Given the description of an element on the screen output the (x, y) to click on. 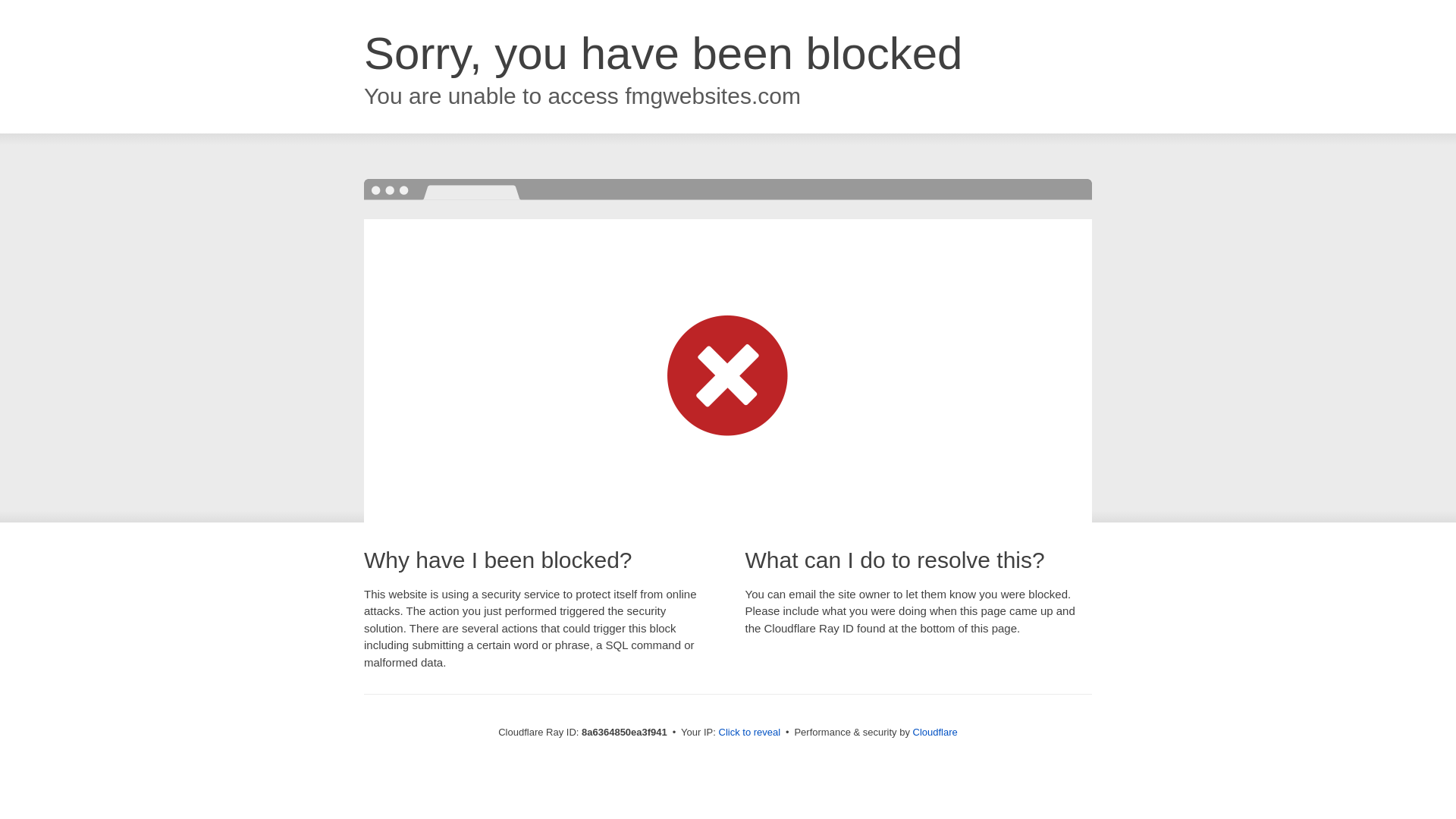
Cloudflare (935, 731)
Click to reveal (749, 732)
